Given the description of an element on the screen output the (x, y) to click on. 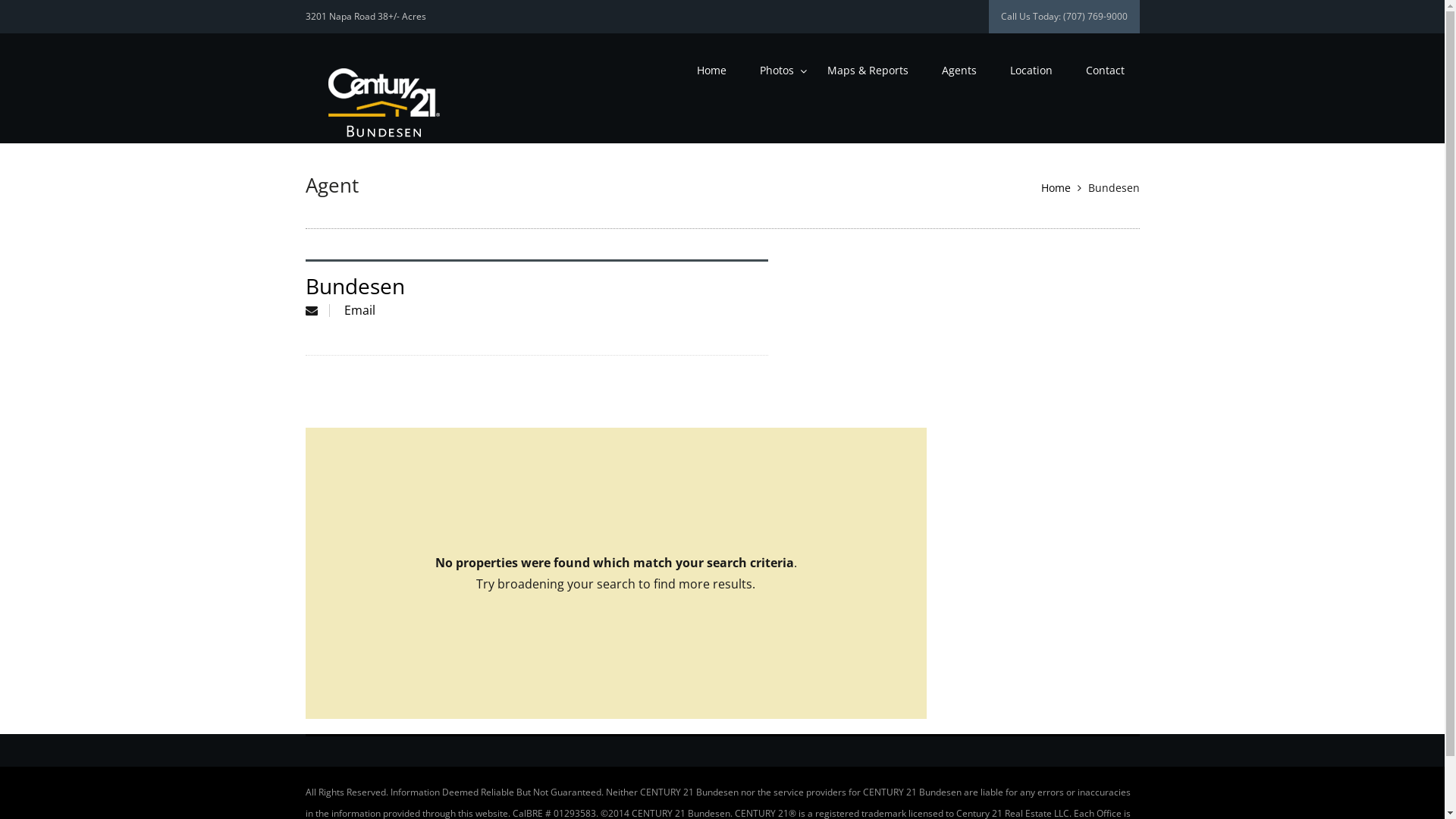
Home Element type: text (710, 70)
Email Element type: text (359, 309)
Bundesen Element type: text (354, 285)
Contact Element type: text (1104, 70)
Location Element type: text (1030, 70)
Home Element type: text (1055, 187)
Maps & Reports Element type: text (866, 70)
Photos Element type: text (776, 70)
Agents Element type: text (958, 70)
